Given the description of an element on the screen output the (x, y) to click on. 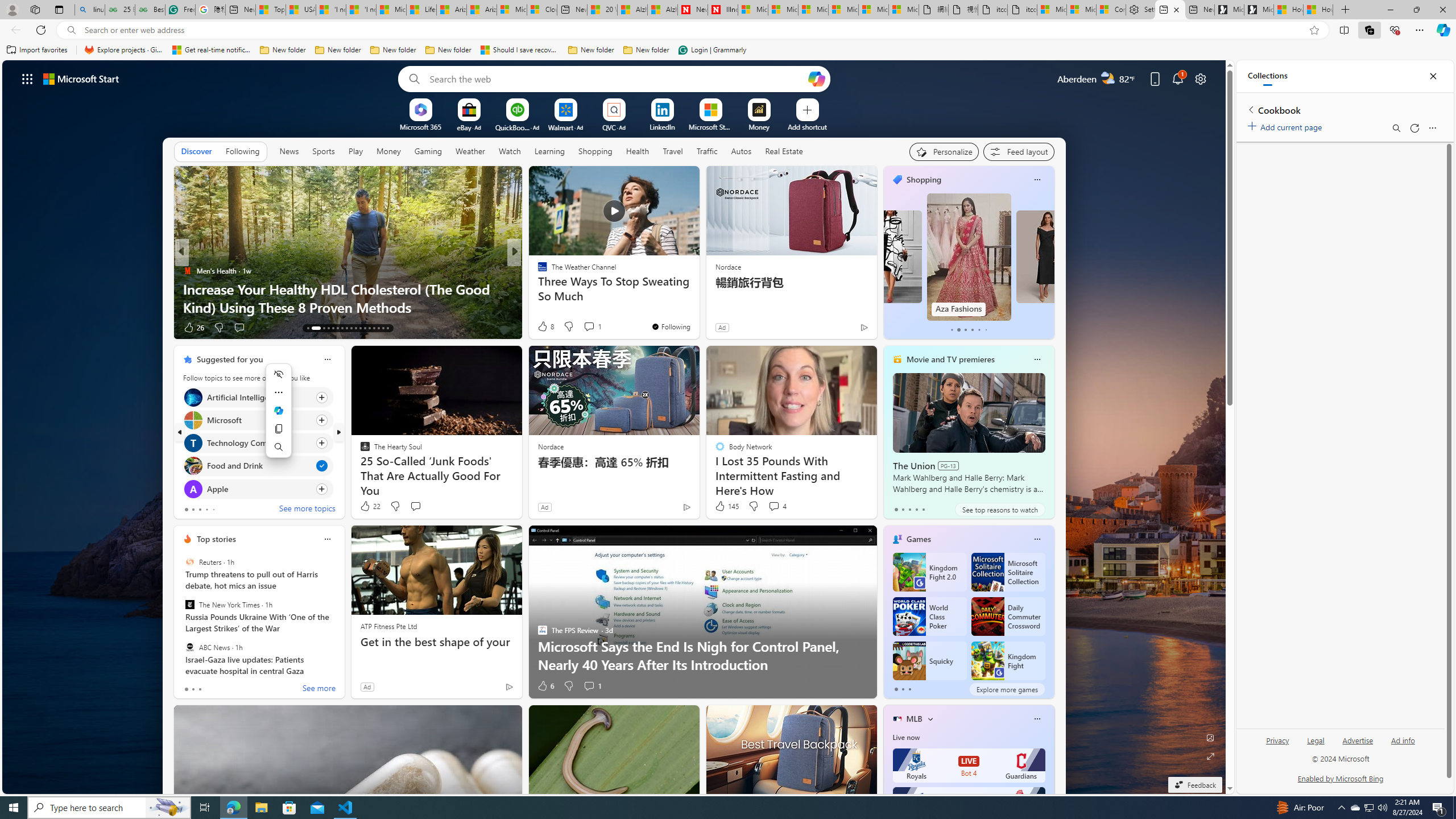
CNET (537, 288)
86 Like (543, 327)
previous (179, 432)
120 Like (545, 327)
Microsoft (192, 419)
Click to follow topic Technology Companies (257, 442)
PC World (537, 270)
LinkedIn (662, 126)
